Given the description of an element on the screen output the (x, y) to click on. 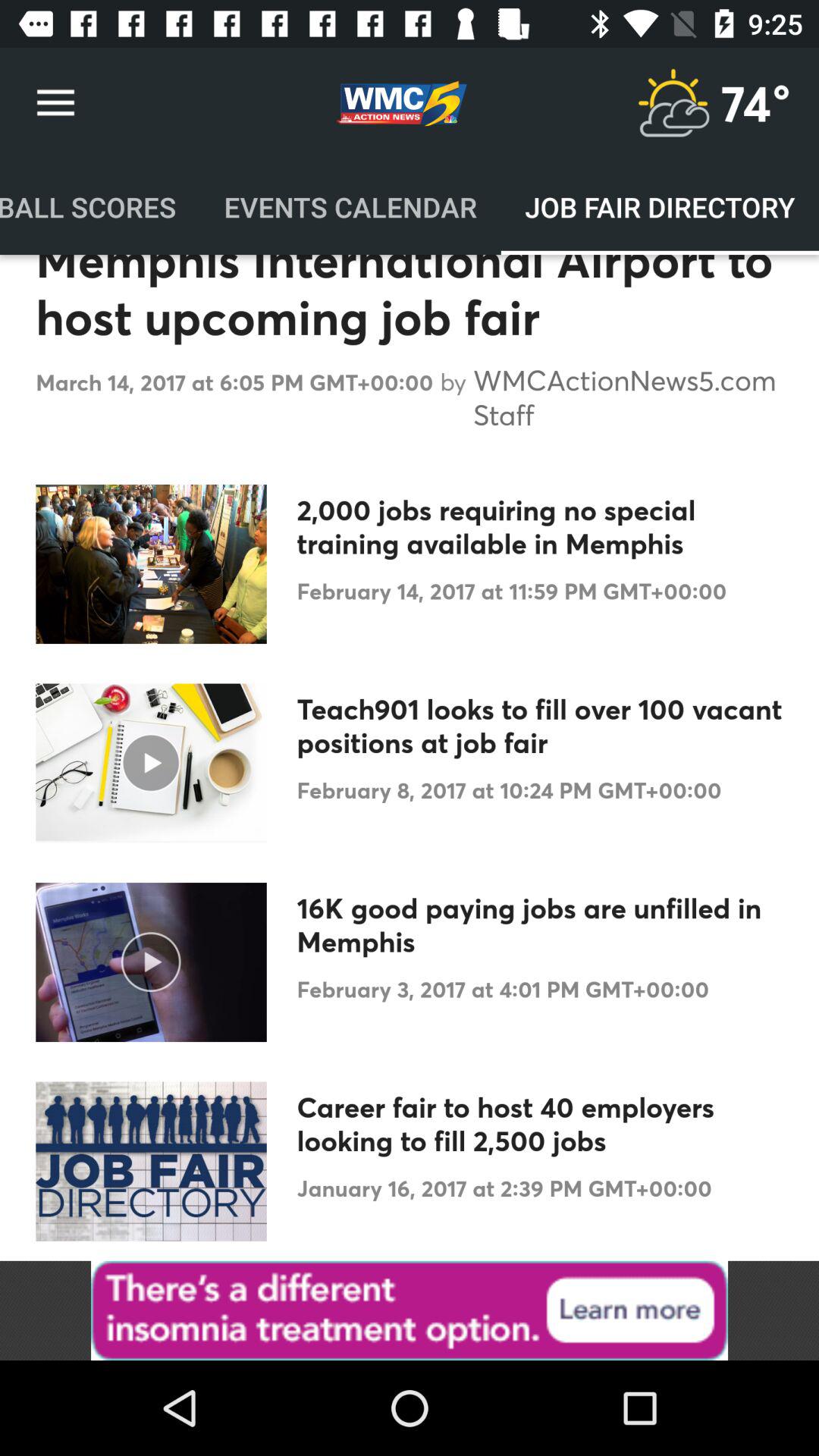
advertisement link (409, 1310)
